Given the description of an element on the screen output the (x, y) to click on. 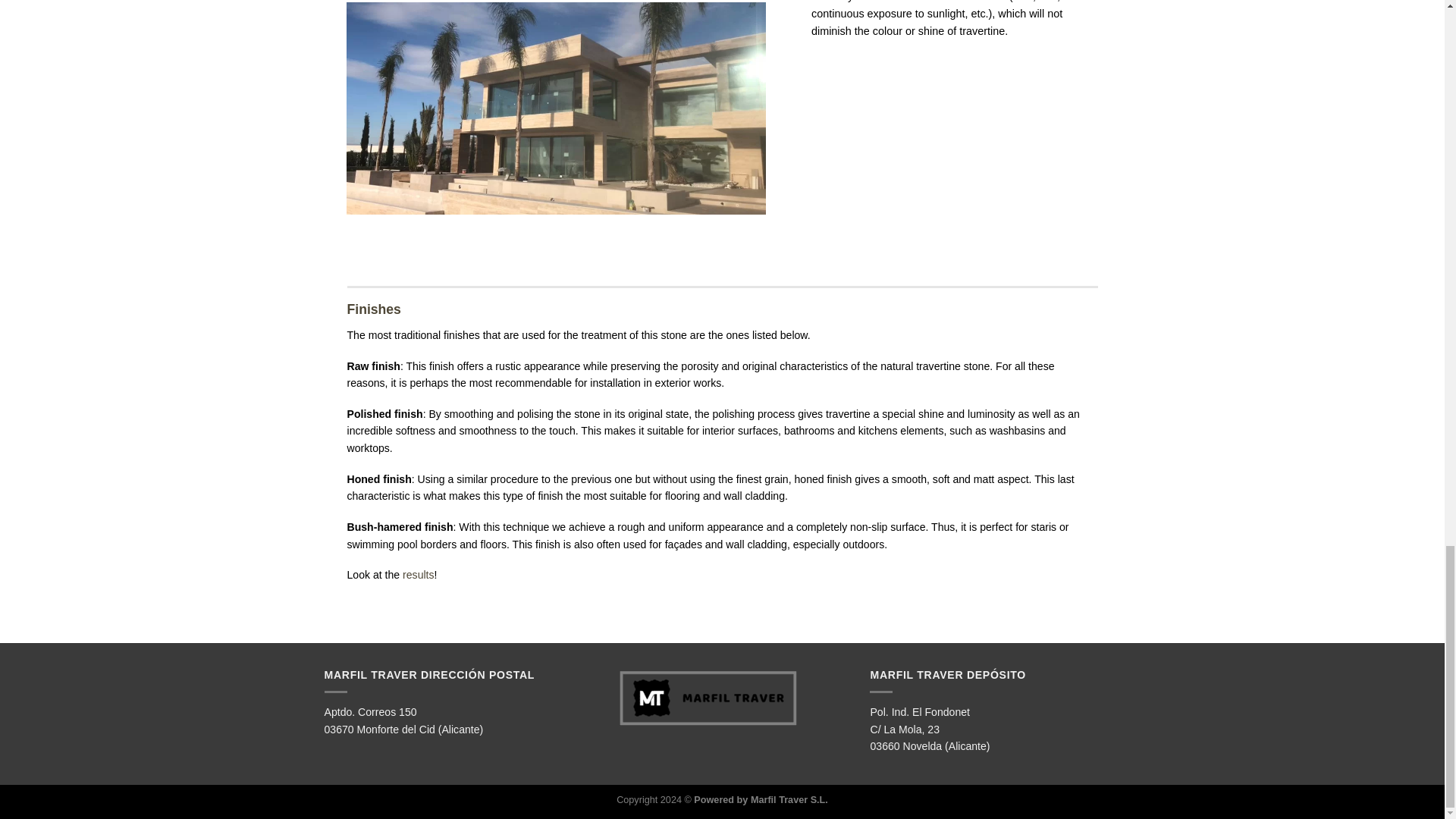
results (418, 574)
